Given the description of an element on the screen output the (x, y) to click on. 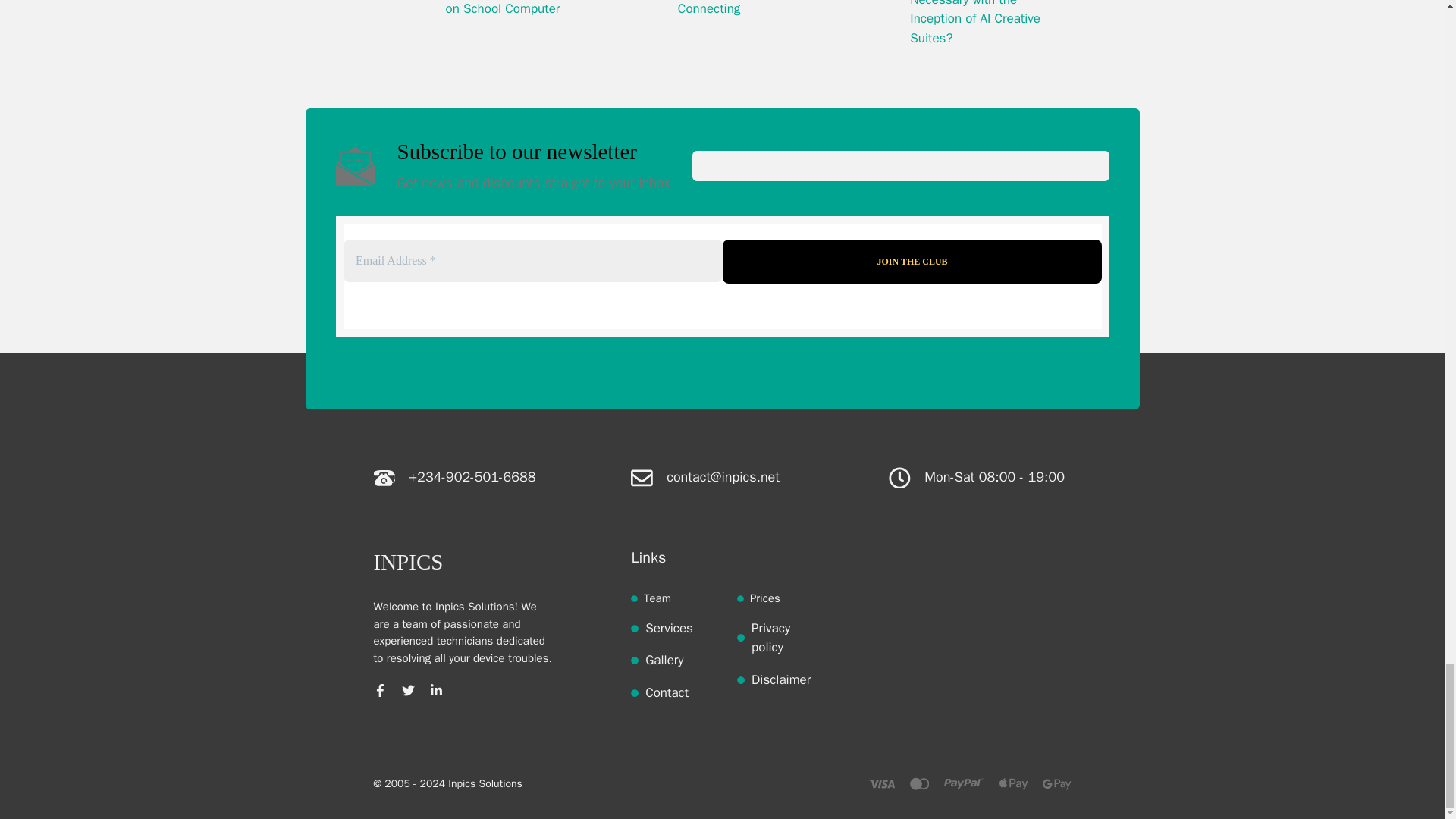
JOIN THE CLUB (911, 261)
Email Address (532, 260)
